Given the description of an element on the screen output the (x, y) to click on. 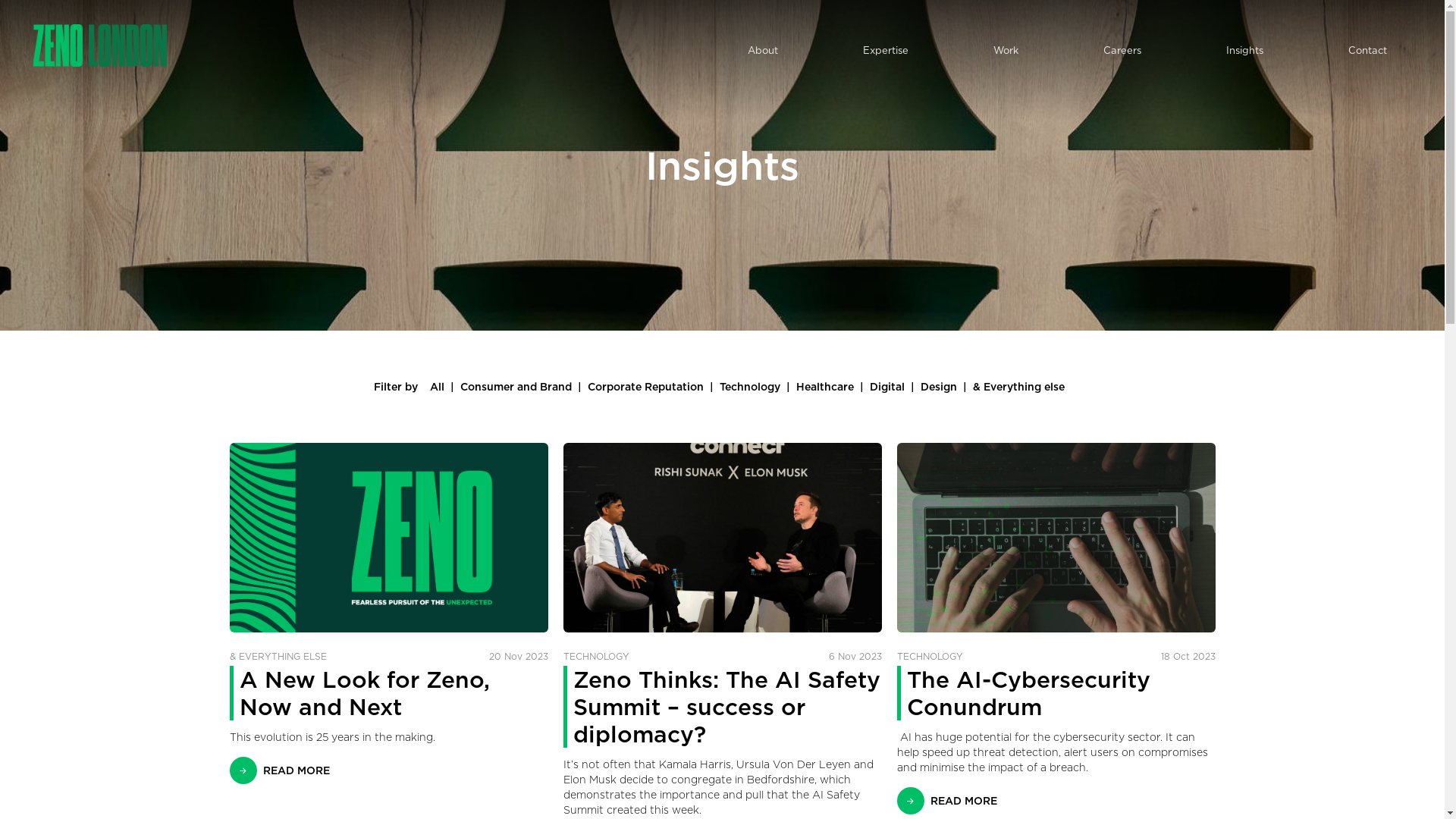
READ MORE Element type: text (946, 800)
Contact Element type: text (1367, 50)
Home Element type: hover (99, 45)
About Element type: text (762, 50)
Digital Element type: text (886, 386)
Corporate Reputation Element type: text (645, 386)
& Everything else Element type: text (1018, 386)
Consumer and Brand Element type: text (515, 386)
Work Element type: text (1005, 50)
Healthcare Element type: text (824, 386)
All Element type: text (436, 386)
Design Element type: text (938, 386)
Technology Element type: text (749, 386)
Careers Element type: text (1122, 50)
Expertise Element type: text (885, 50)
Insights Element type: text (1244, 50)
Skip to main content Element type: text (0, 0)
READ MORE Element type: text (279, 770)
